Given the description of an element on the screen output the (x, y) to click on. 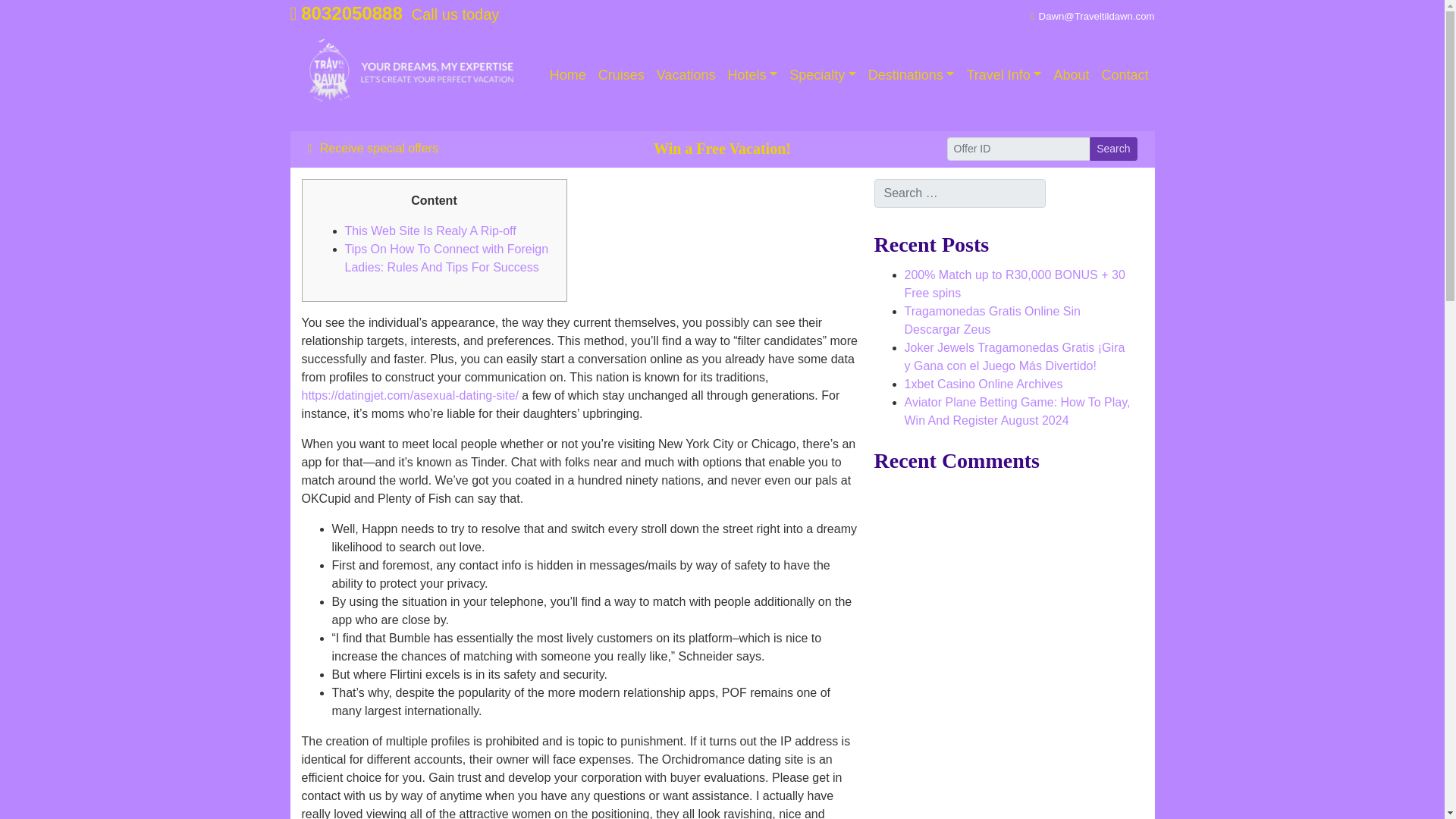
Contact (1124, 74)
About (1070, 74)
Cruises (621, 74)
Destinations (910, 74)
Search for: (959, 193)
Vacations (686, 74)
Specialty (822, 74)
Home (567, 74)
Travel Info (1002, 74)
Call us (345, 13)
